Given the description of an element on the screen output the (x, y) to click on. 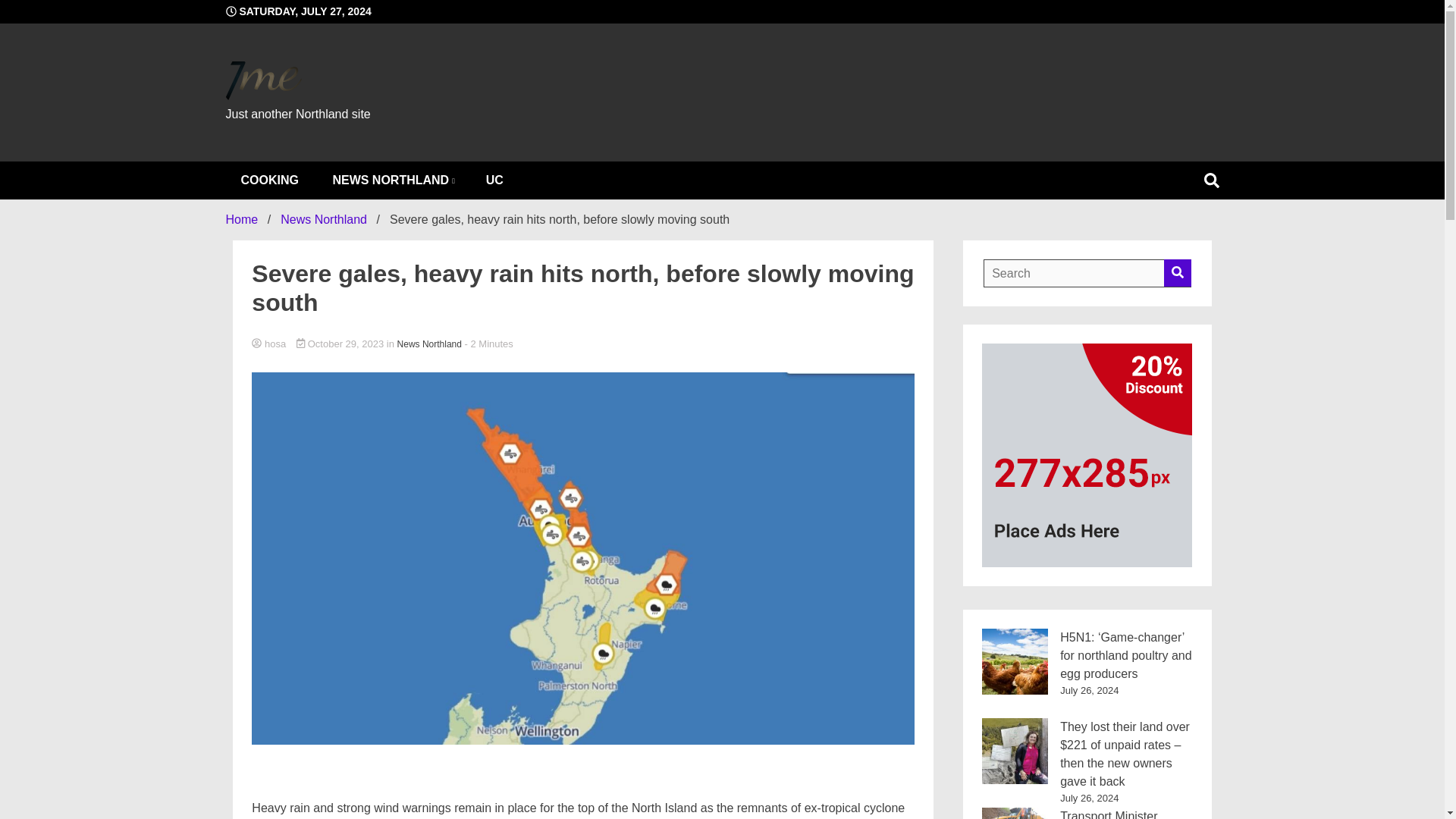
News Northland (429, 344)
October 29, 2023 (342, 343)
News Northland (323, 219)
COOKING (269, 180)
Home (242, 219)
Estimated Reading Time of Article (488, 343)
UC (494, 180)
hosa (582, 344)
NEWS NORTHLAND (392, 180)
